Given the description of an element on the screen output the (x, y) to click on. 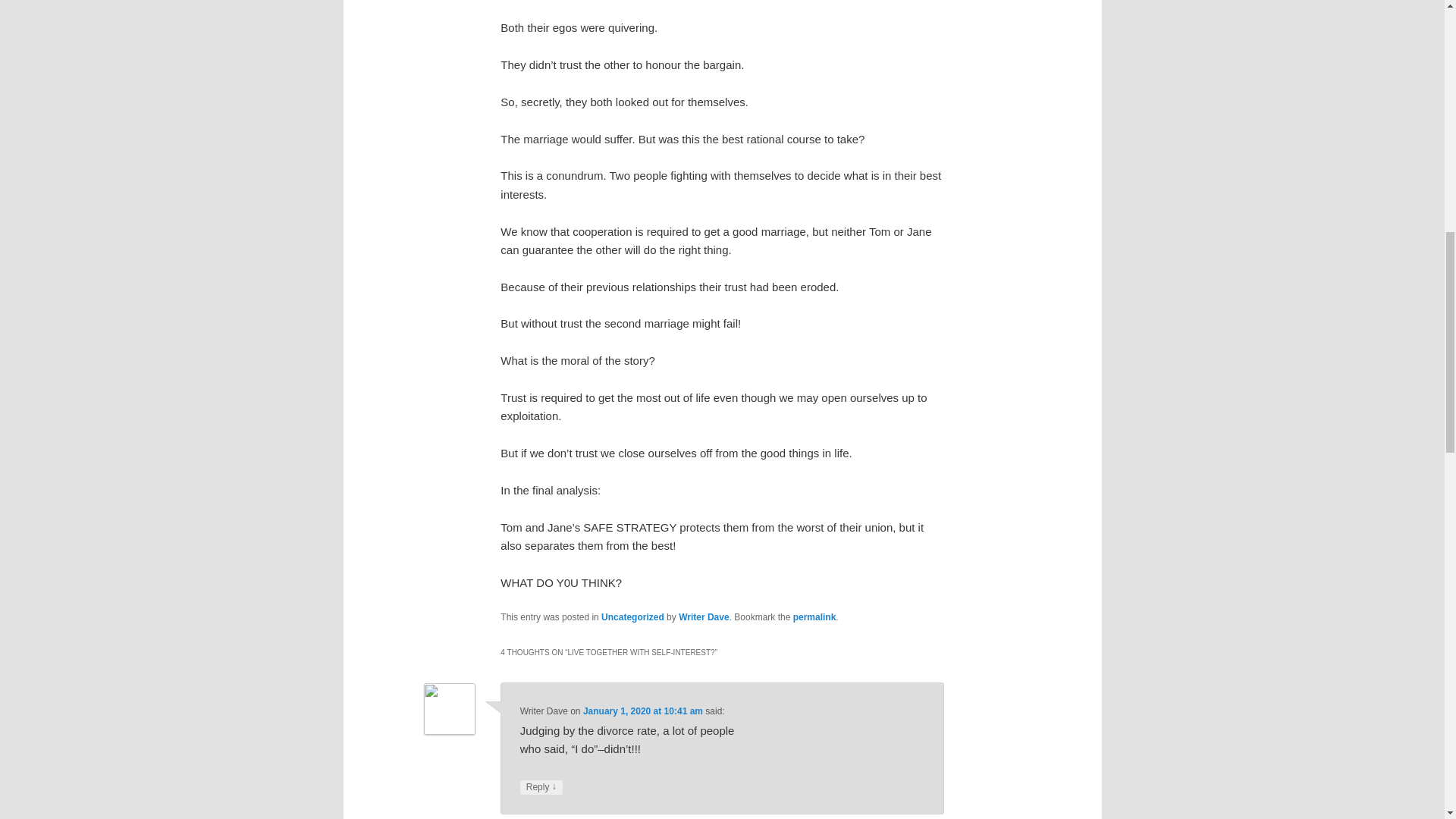
Writer Dave (703, 616)
January 1, 2020 at 10:41 am (643, 710)
Permalink to Live Together With Self-Interest? (814, 616)
Uncategorized (632, 616)
permalink (814, 616)
